Given the description of an element on the screen output the (x, y) to click on. 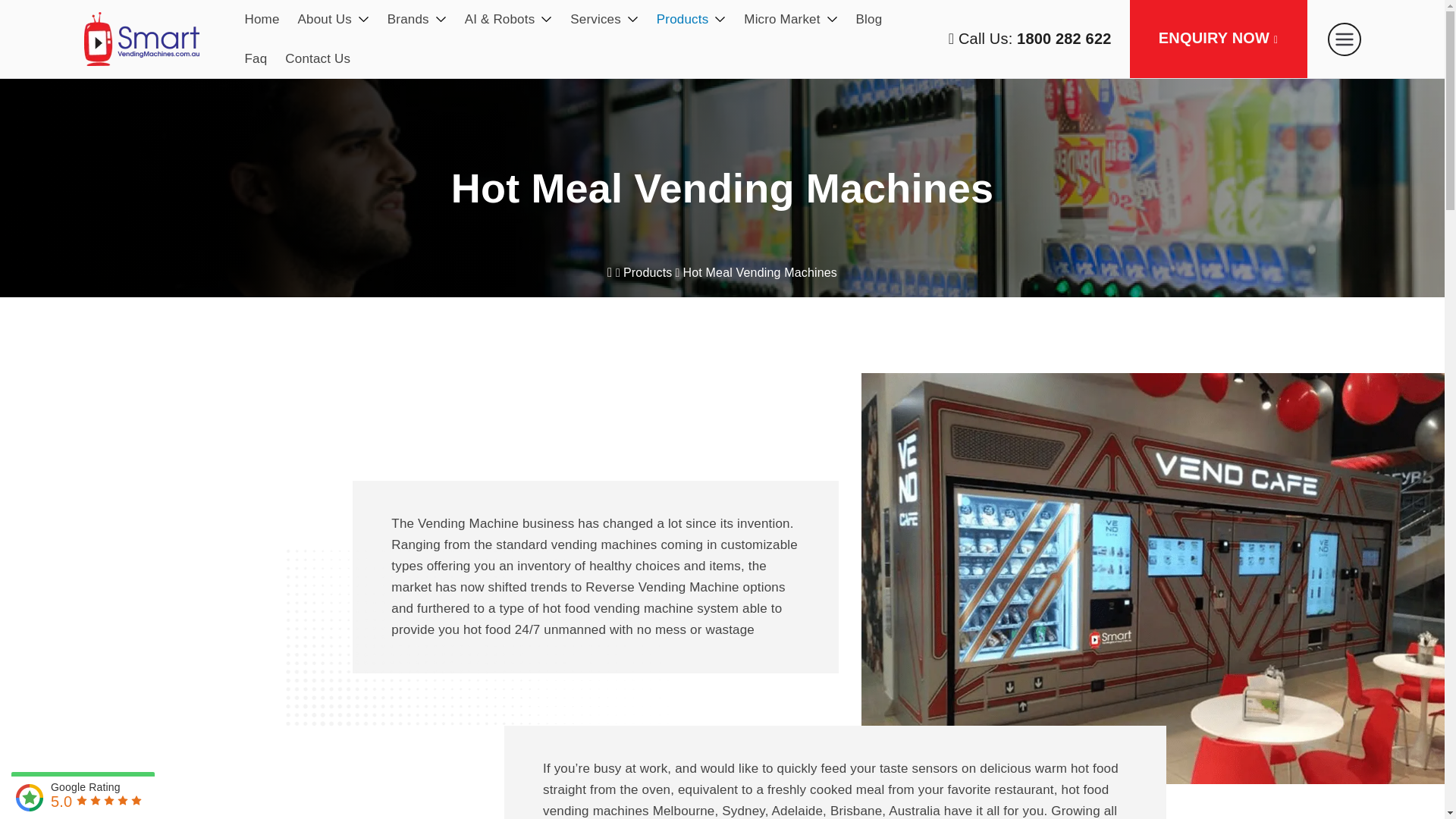
About Us (333, 19)
Brands (416, 19)
Home (261, 19)
Micro Market (790, 19)
Products (690, 19)
Services (604, 19)
